Given the description of an element on the screen output the (x, y) to click on. 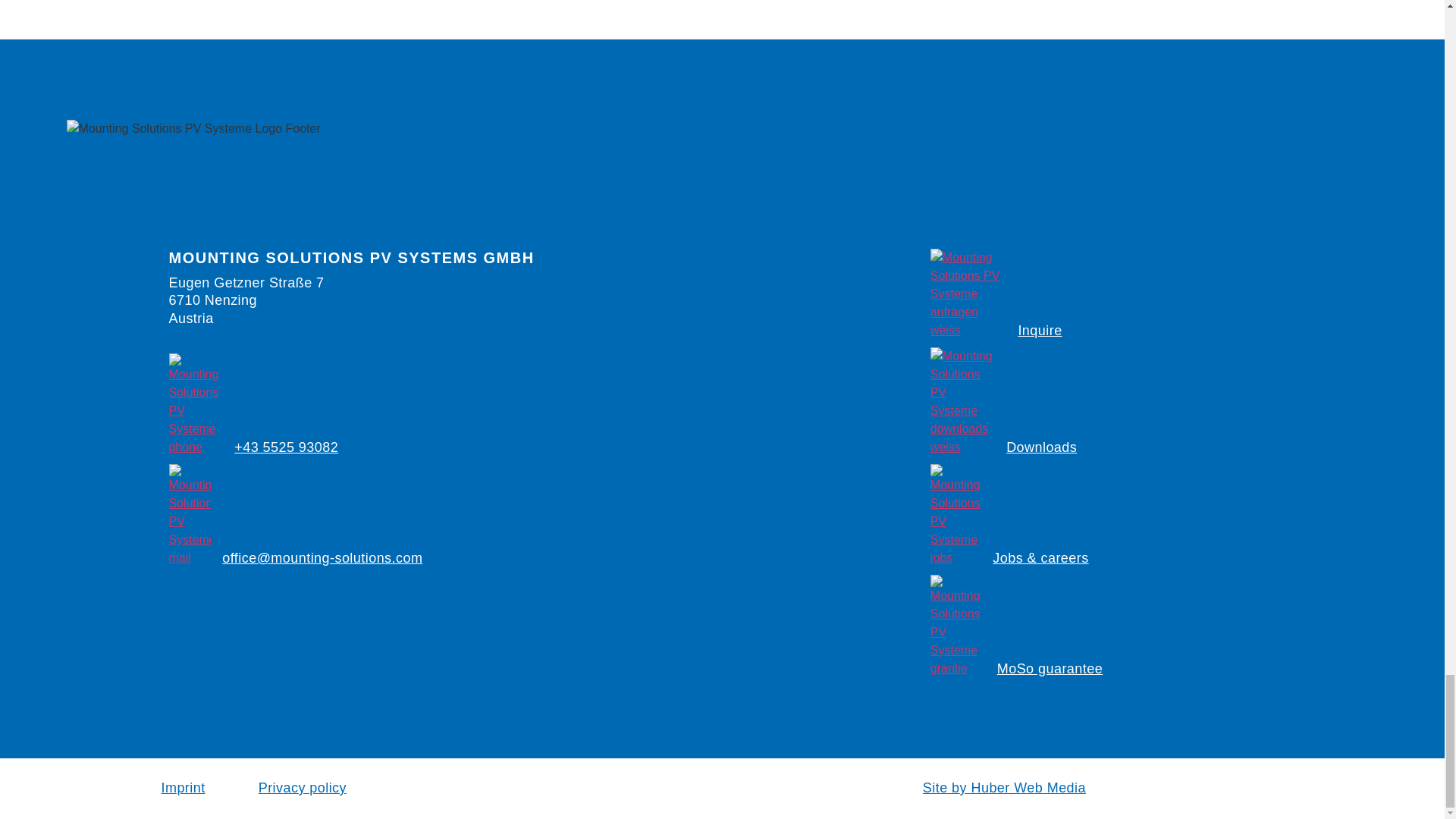
Inquire (1039, 330)
